Given the description of an element on the screen output the (x, y) to click on. 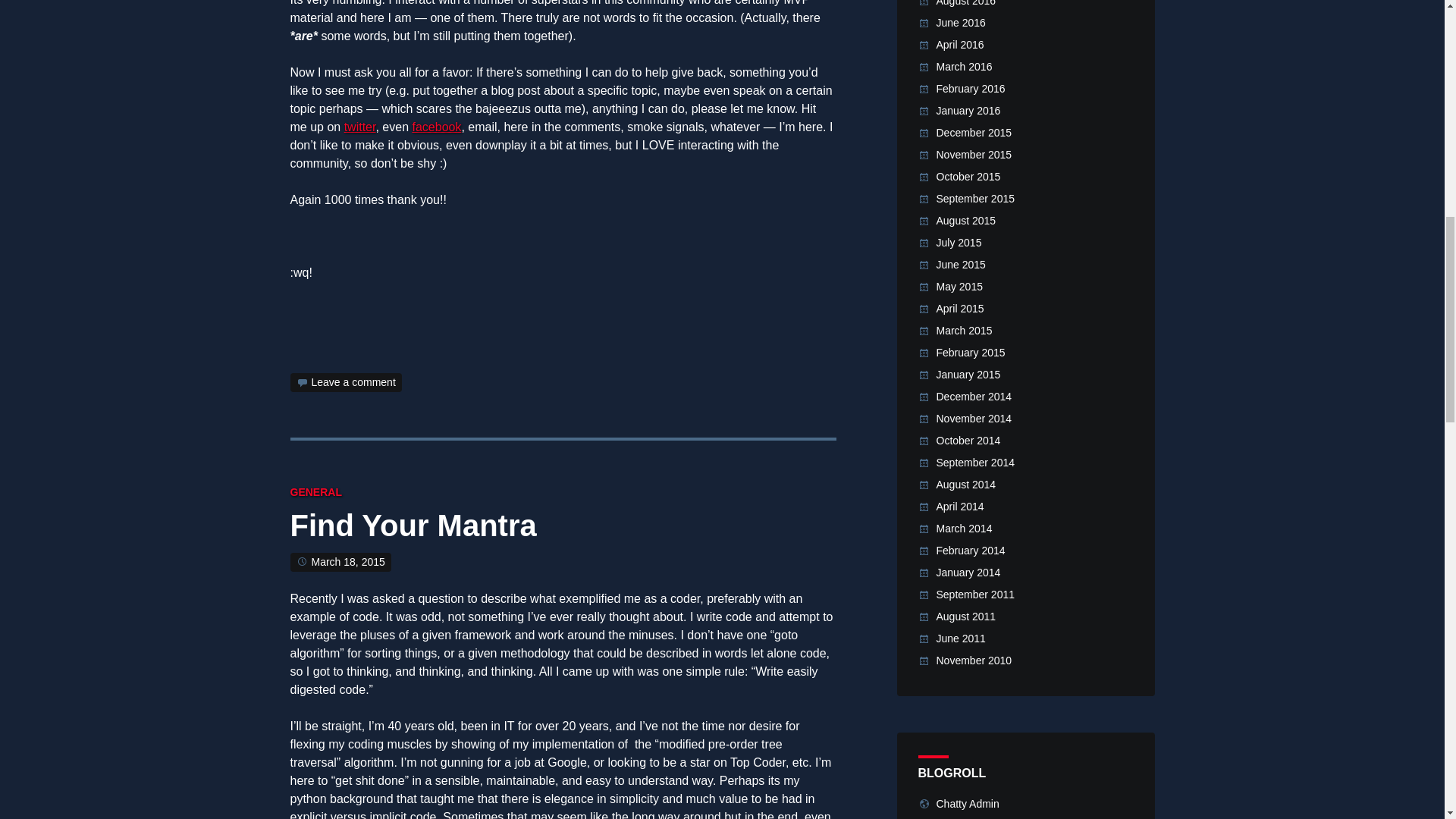
Leave a comment (352, 381)
Facebook (436, 126)
Ryan Headley (359, 126)
facebook (436, 126)
GENERAL (314, 491)
March 18, 2015 (347, 562)
twitter (359, 126)
Find Your Mantra (412, 529)
